Given the description of an element on the screen output the (x, y) to click on. 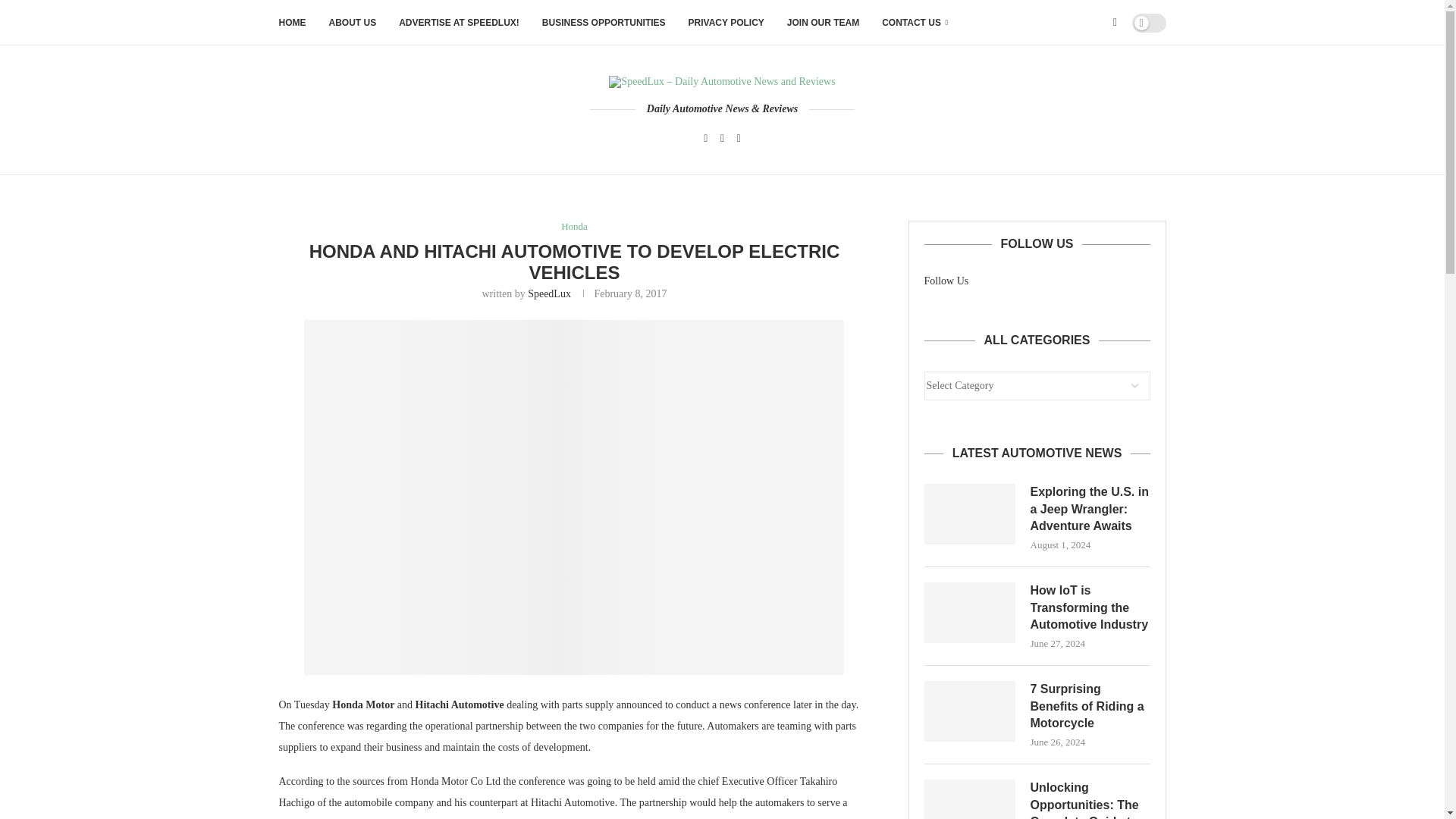
ADVERTISE AT SPEEDLUX! (458, 22)
CONTACT US (915, 22)
ABOUT US (353, 22)
PRIVACY POLICY (726, 22)
BUSINESS OPPORTUNITIES (603, 22)
SpeedLux (548, 293)
Honda (574, 226)
JOIN OUR TEAM (823, 22)
